Given the description of an element on the screen output the (x, y) to click on. 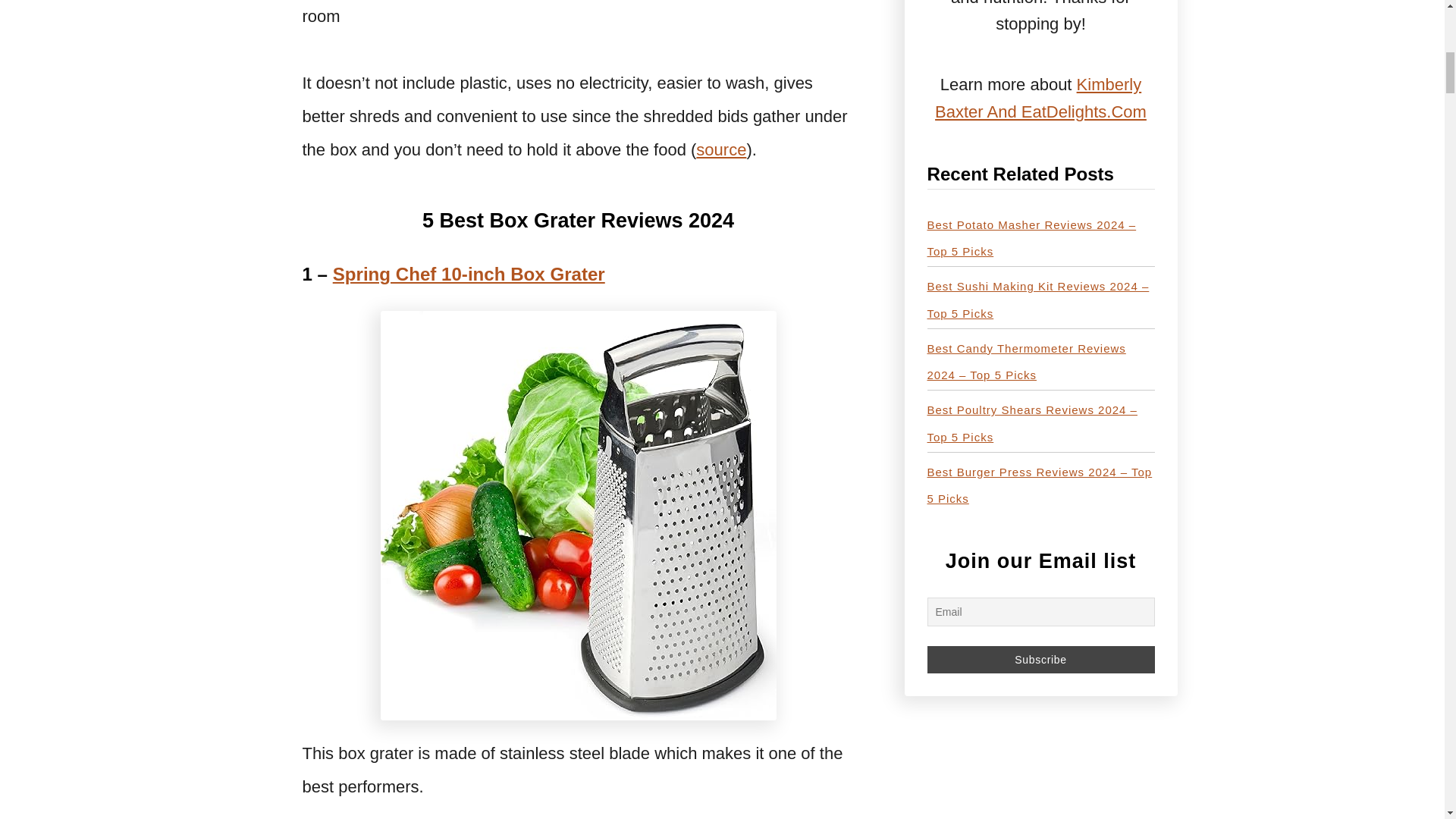
Spring Chef 10-inch Box Grater (469, 273)
source (720, 149)
Subscribe (1040, 659)
